Given the description of an element on the screen output the (x, y) to click on. 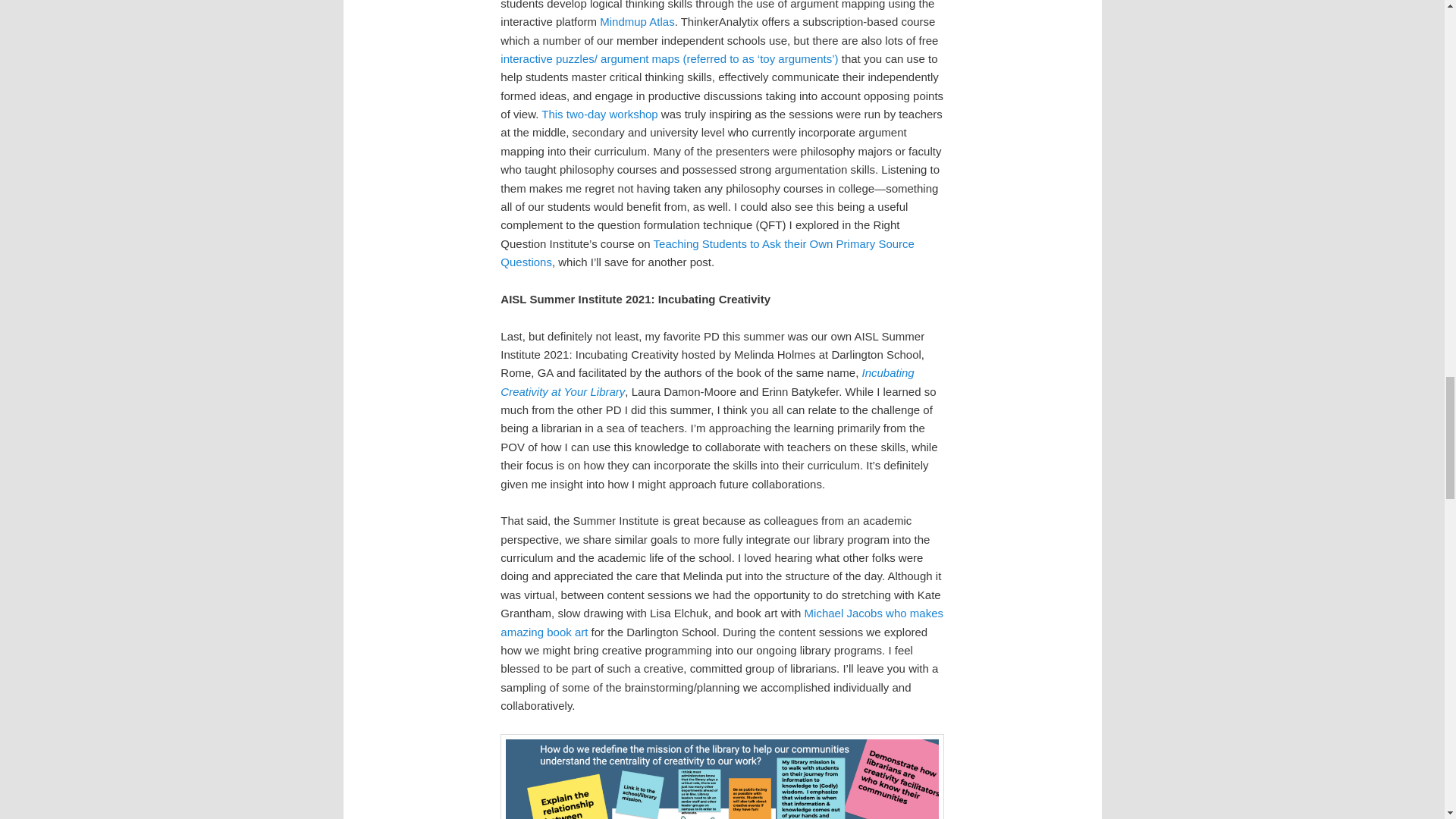
Michael Jacobs who makes amazing book art (721, 622)
Mindmup Atlas (636, 21)
Teaching Students to Ask their Own Primary Source Questions (707, 252)
Incubating Creativity at Your Library (707, 381)
This two-day workshop (599, 113)
